Given the description of an element on the screen output the (x, y) to click on. 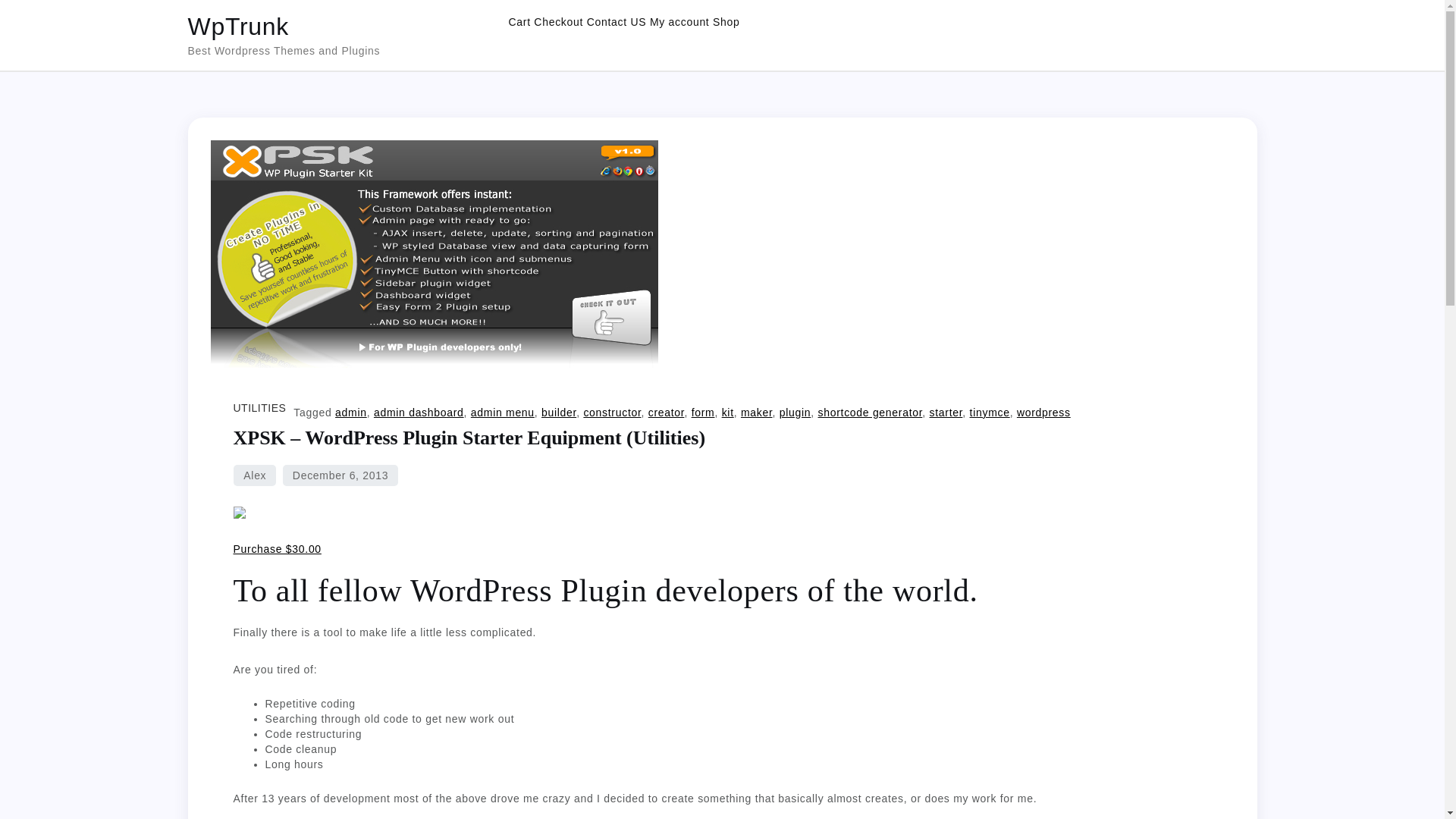
admin (350, 412)
creator (665, 412)
Shop (726, 21)
My account (679, 21)
wordpress (1043, 412)
shortcode generator (870, 412)
maker (757, 412)
admin dashboard (419, 412)
Contact US (616, 21)
kit (727, 412)
